Given the description of an element on the screen output the (x, y) to click on. 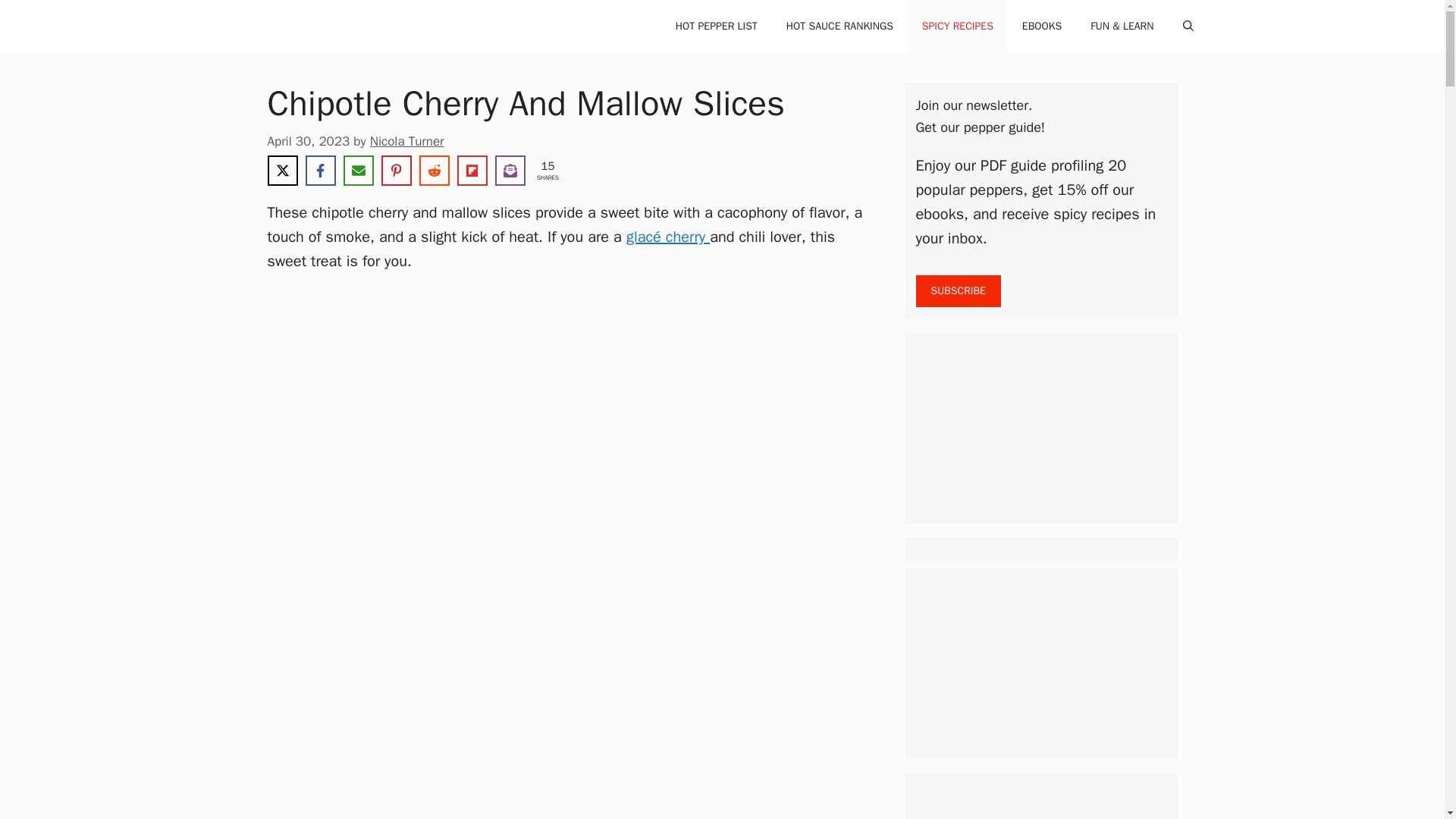
HOT PEPPER LIST (716, 26)
EBOOKS (1041, 26)
HOT SAUCE RANKINGS (839, 26)
PepperScale (318, 26)
Nicola Turner (406, 141)
View all posts by Nicola Turner (406, 141)
SPICY RECIPES (957, 26)
